Given the description of an element on the screen output the (x, y) to click on. 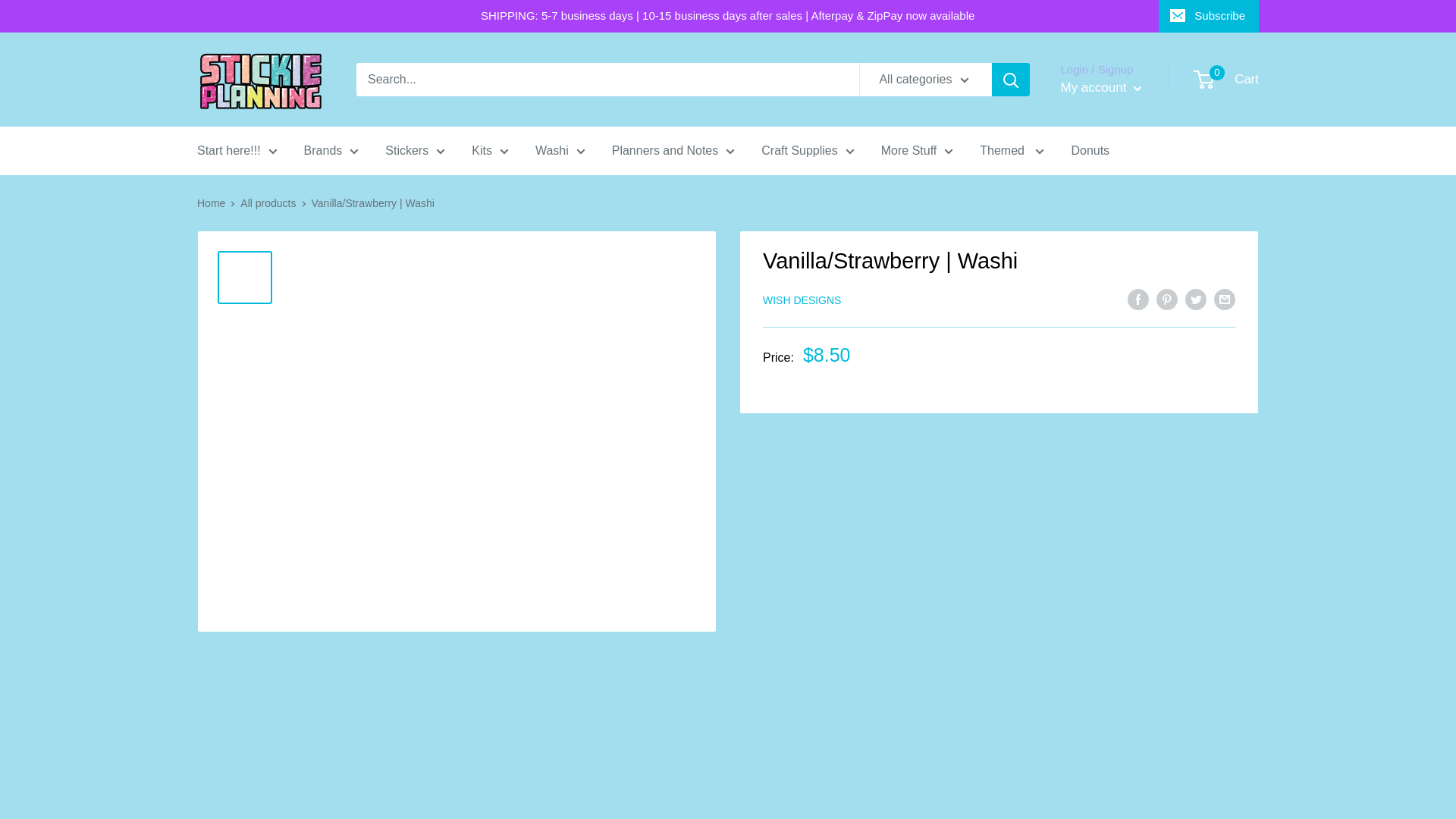
Subscribe (1208, 15)
